Given the description of an element on the screen output the (x, y) to click on. 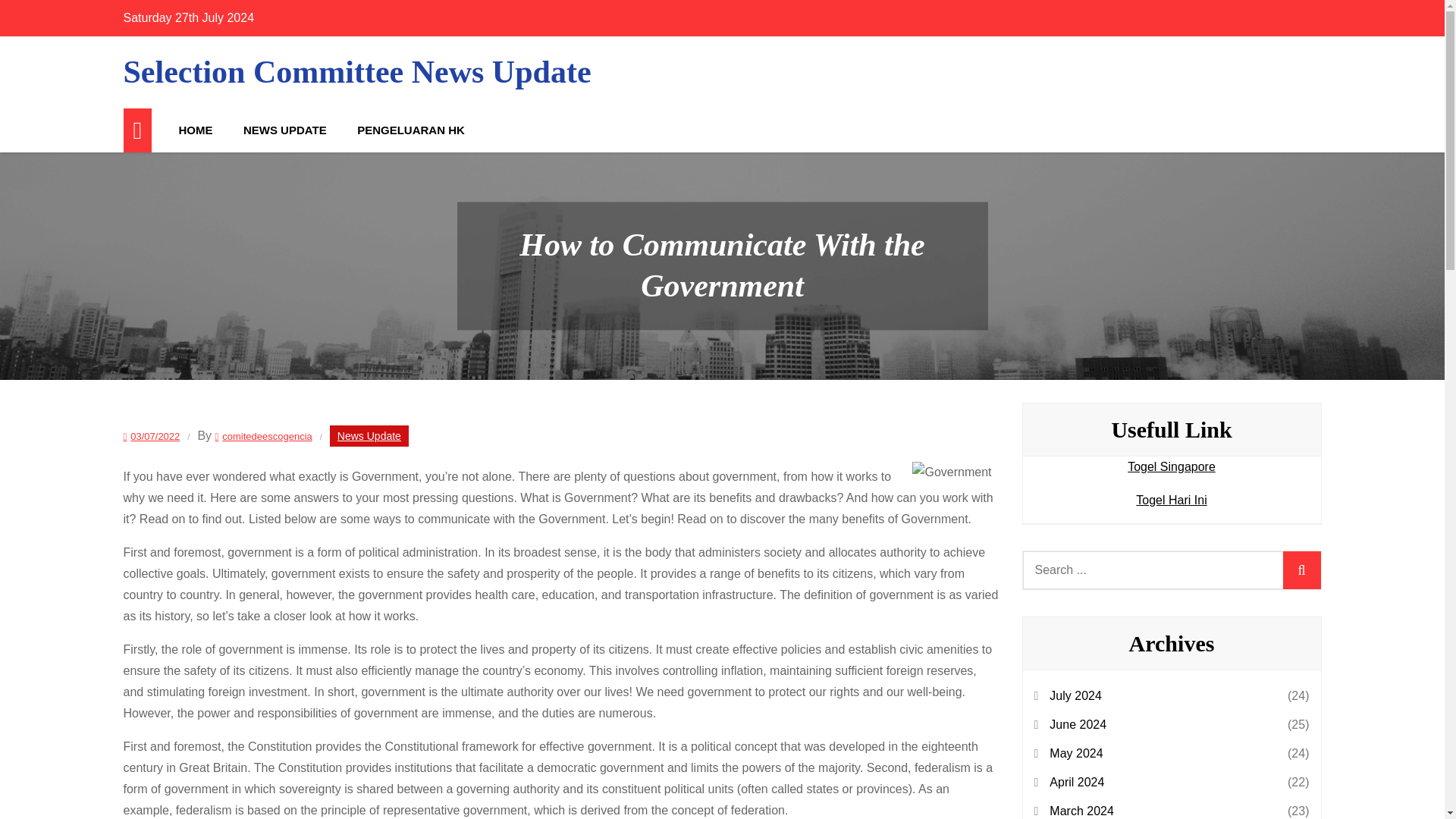
comitedeescogencia (264, 436)
Search (1301, 569)
April 2024 (1076, 782)
News Update (369, 435)
HOME (196, 130)
July 2024 (1075, 695)
June 2024 (1077, 724)
NEWS UPDATE (285, 130)
Togel Hari Ini (1171, 499)
Togel Singapore (1170, 466)
Selection Committee News Update (356, 71)
March 2024 (1081, 809)
Search for: (1171, 569)
PENGELUARAN HK (411, 130)
May 2024 (1075, 753)
